Given the description of an element on the screen output the (x, y) to click on. 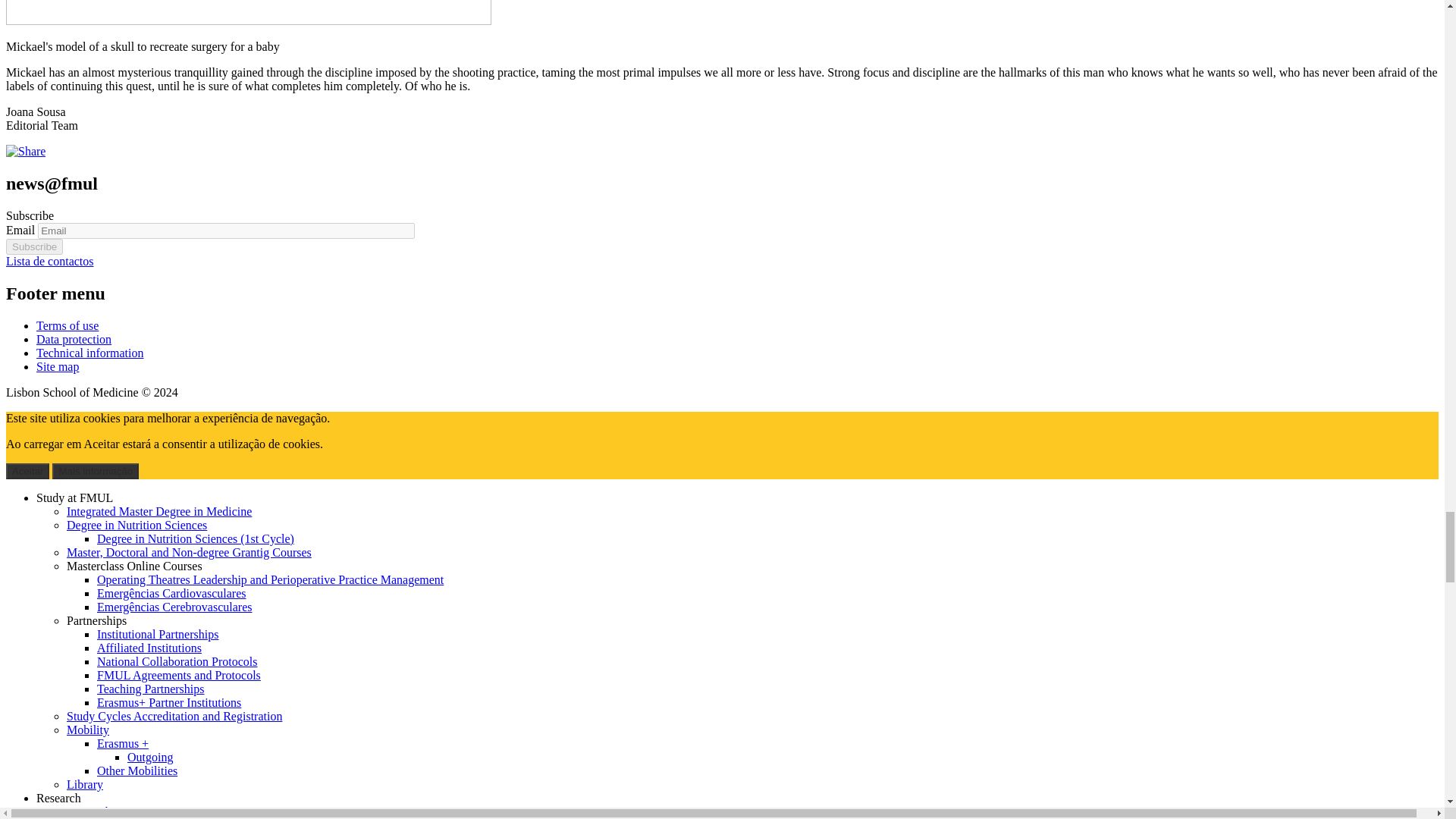
FMUL Agreements and Protocols (178, 675)
Teaching Partnerships (151, 688)
Subscribe (33, 246)
Affiliated Institutions (149, 647)
Degree in Nutrition Sciences (136, 524)
Terms of use (67, 325)
Lista de contactos (49, 260)
Site map (57, 366)
Data protection (74, 338)
